Given the description of an element on the screen output the (x, y) to click on. 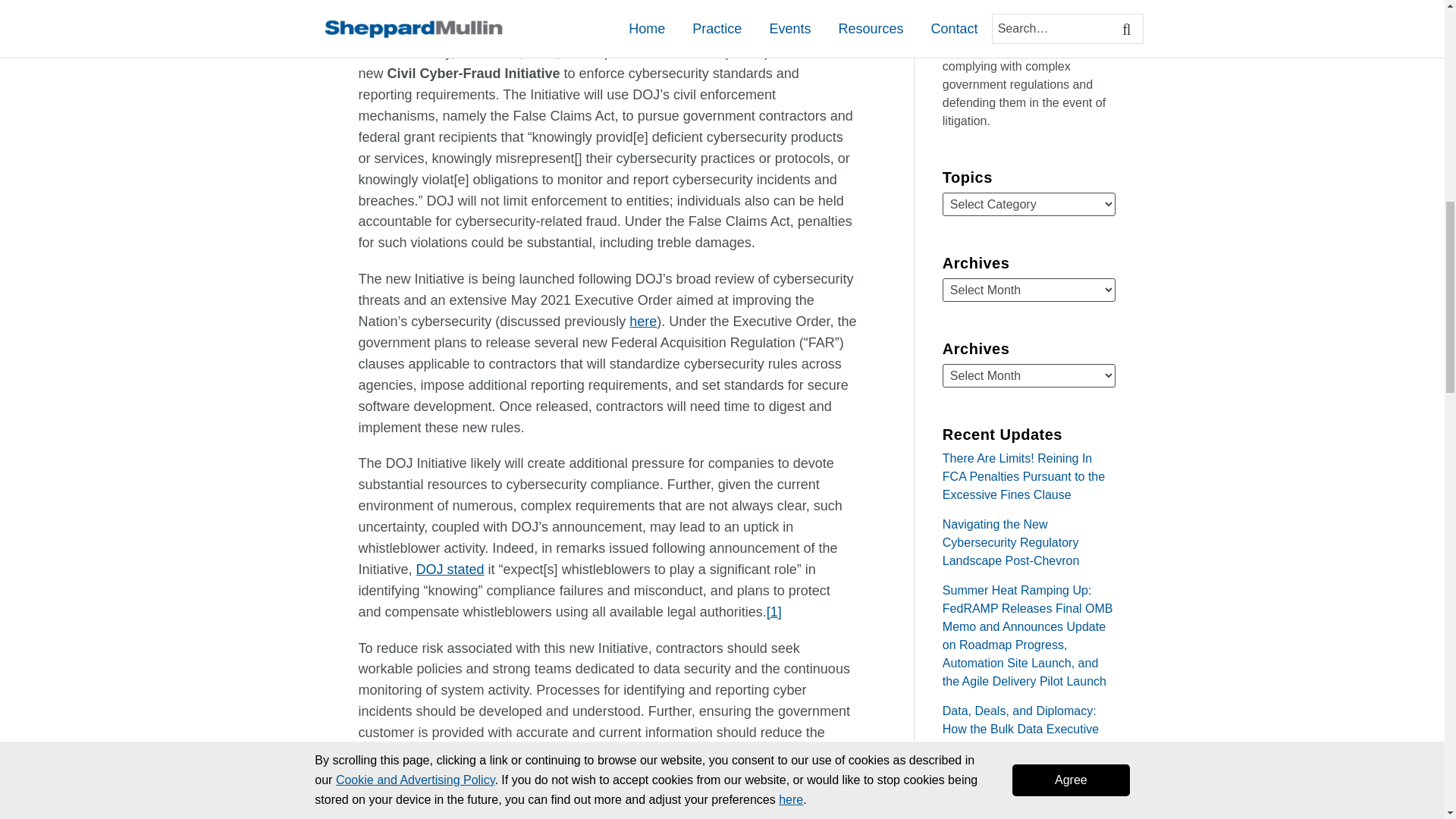
FCA (643, 21)
DOJ stated (450, 569)
DEPARTMENT OF JUSTICE (565, 21)
here (642, 321)
Townsend Bourne (423, 1)
CYBERSECURITY (454, 21)
announced (806, 52)
Nikole Snyder (516, 1)
Lillia Damalouji (609, 1)
